Given the description of an element on the screen output the (x, y) to click on. 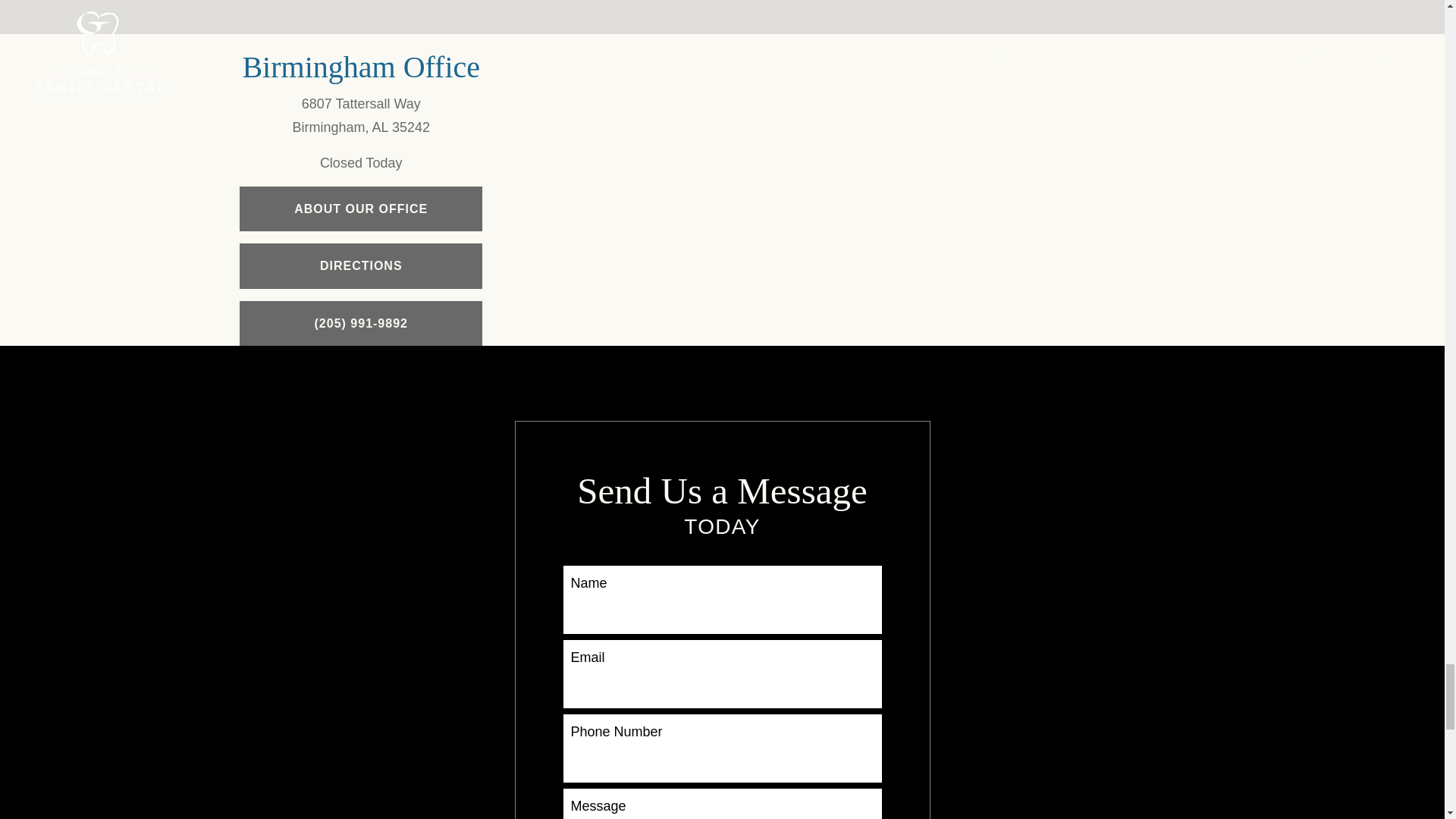
Locations (1030, 45)
